Given the description of an element on the screen output the (x, y) to click on. 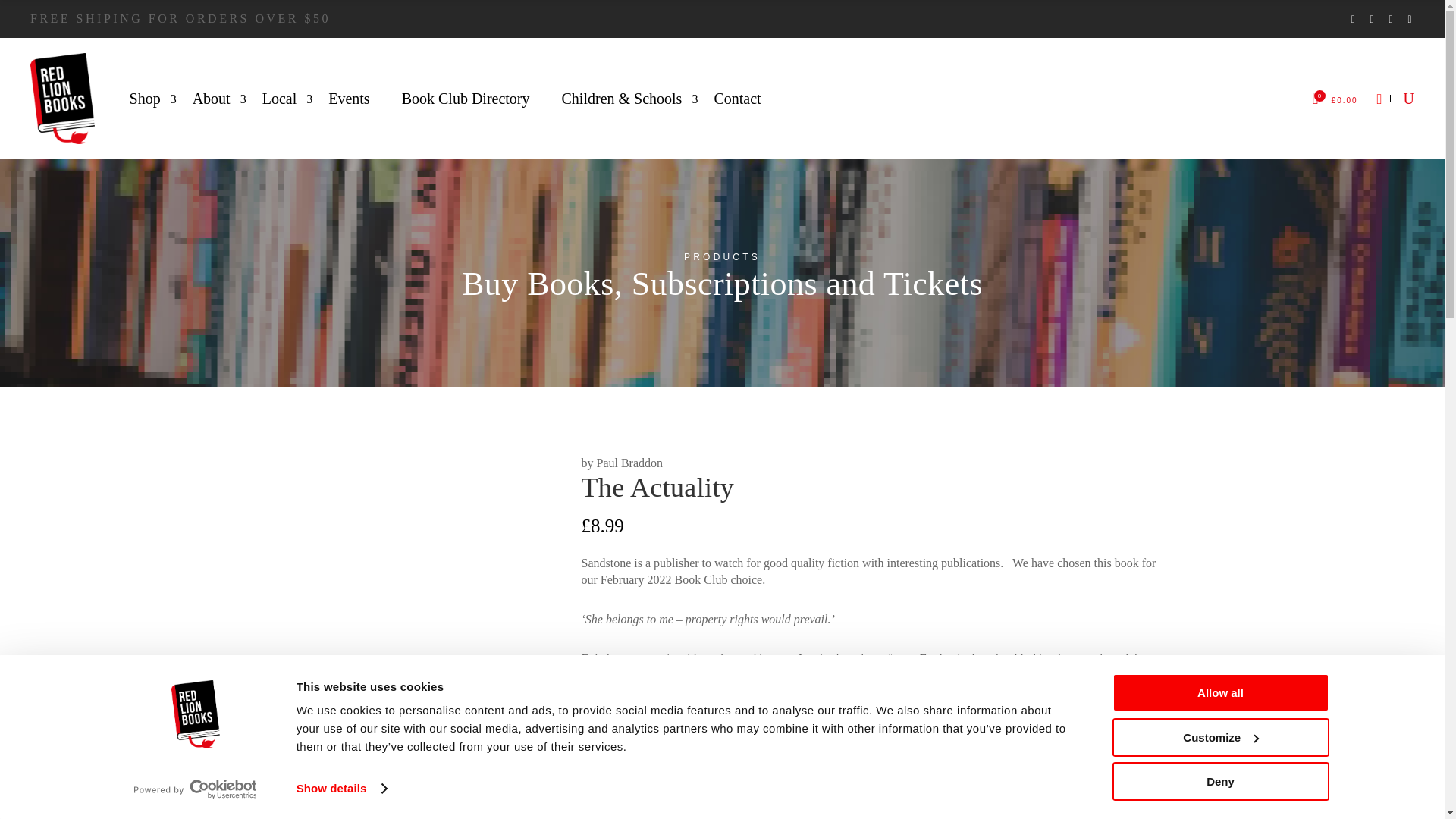
1 (707, 783)
Customize (1219, 736)
Show details (341, 788)
Allow all (1219, 692)
Deny (1219, 781)
Qty (707, 783)
